Given the description of an element on the screen output the (x, y) to click on. 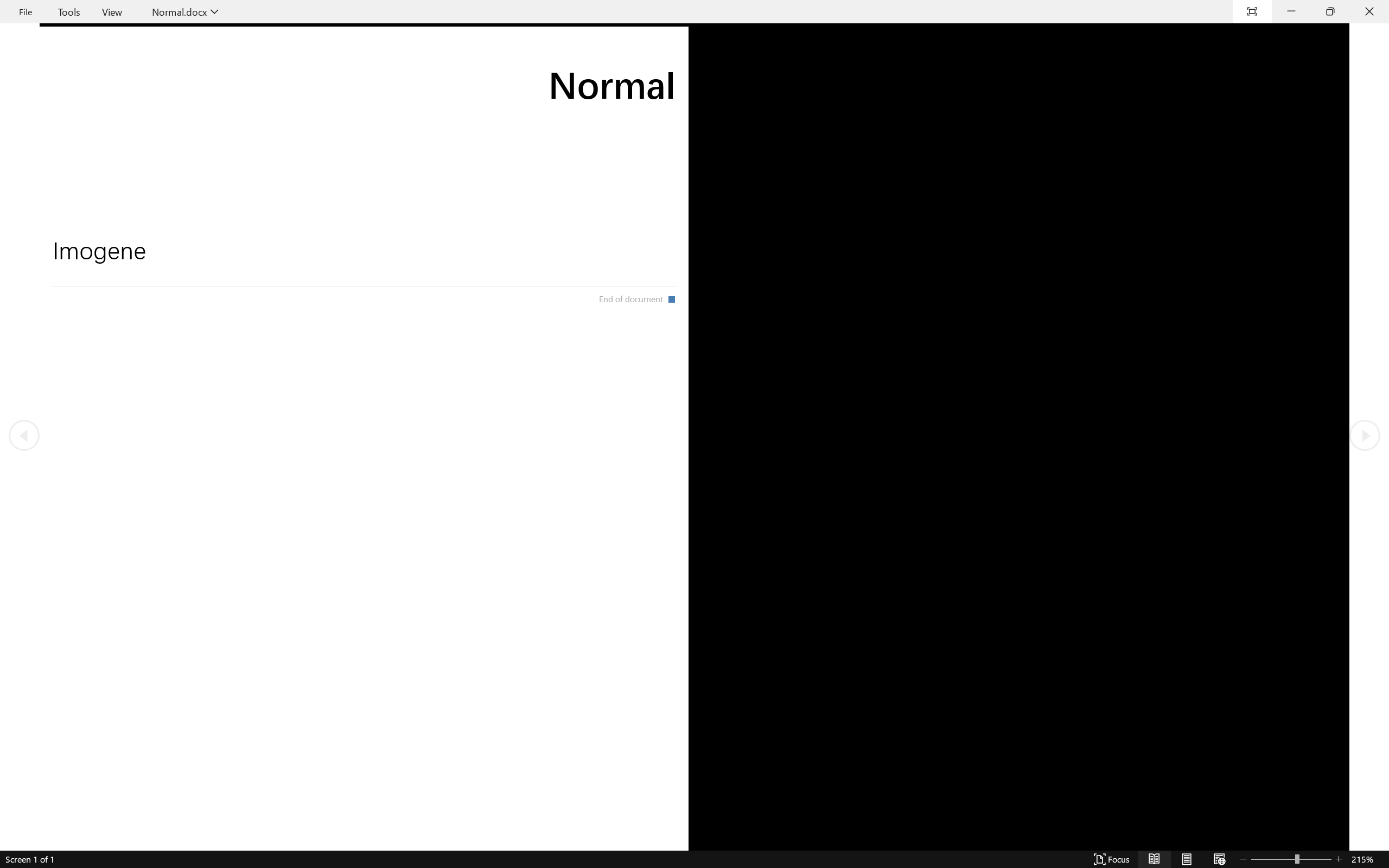
Freeform: Scribble (528, 72)
